Given the description of an element on the screen output the (x, y) to click on. 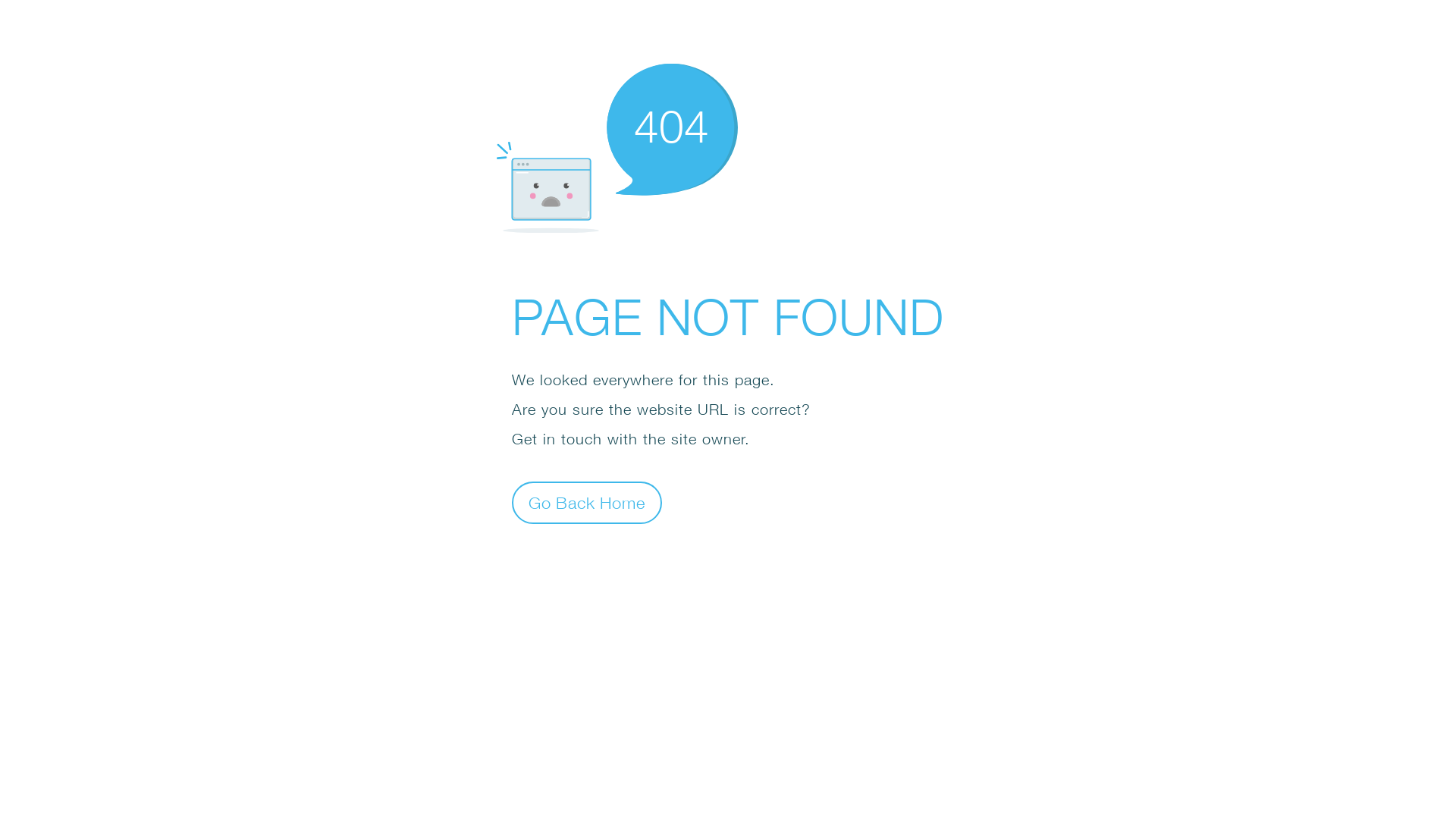
Go Back Home Element type: text (586, 502)
